Given the description of an element on the screen output the (x, y) to click on. 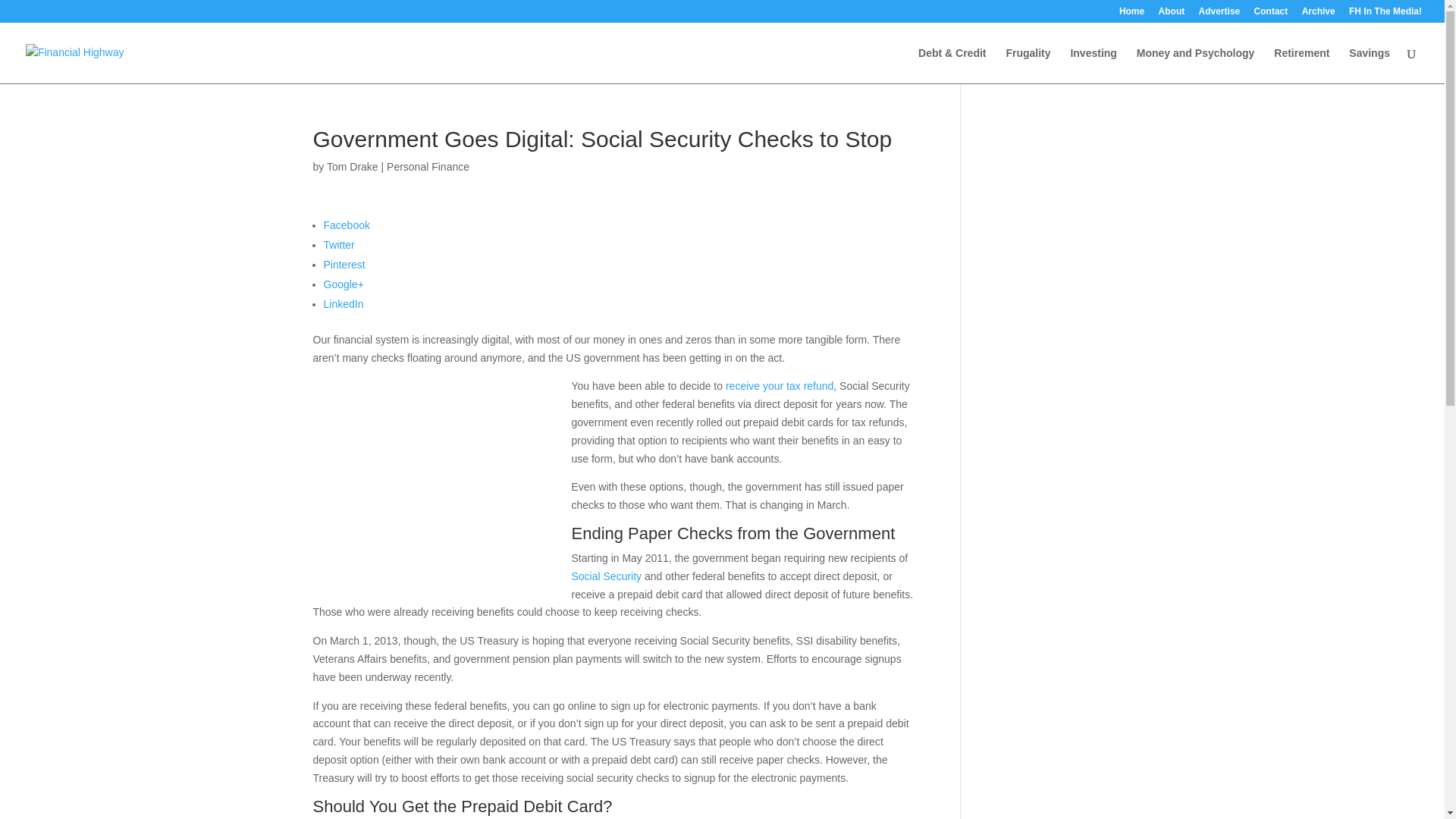
Facebook (346, 224)
receive your tax refund (778, 386)
Posts by Tom Drake (352, 166)
Pinterest (344, 264)
LinkedIn (342, 304)
Contact (1270, 14)
Savings (1369, 65)
Home (1131, 14)
Personal Finance (427, 166)
Retirement (1301, 65)
Money and Psychology (1196, 65)
Archive (1318, 14)
Twitter (338, 244)
Advertise (1219, 14)
FH In The Media! (1385, 14)
